Given the description of an element on the screen output the (x, y) to click on. 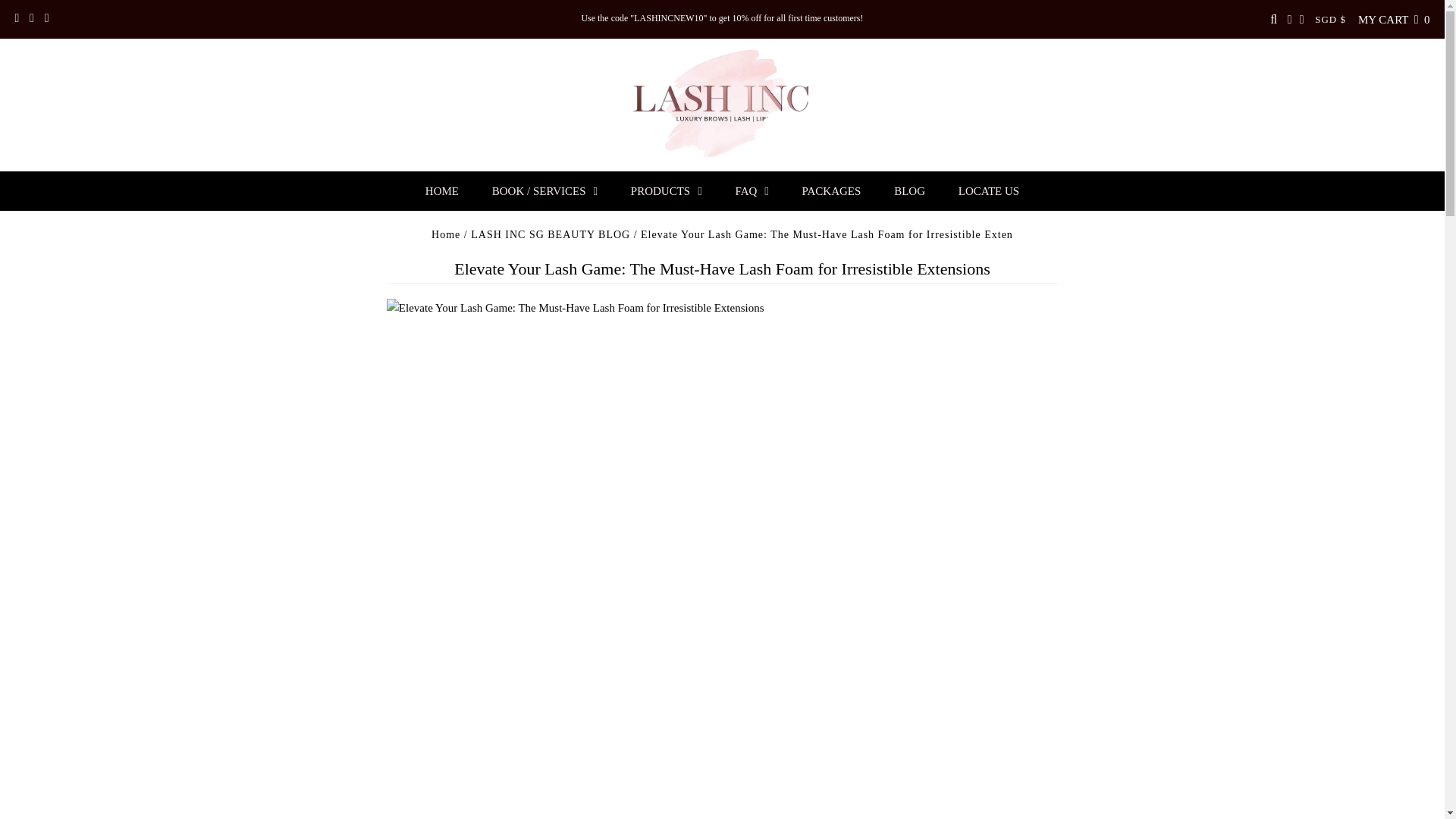
Home (445, 234)
HOME (442, 190)
MY CART    0 (1393, 19)
